Given the description of an element on the screen output the (x, y) to click on. 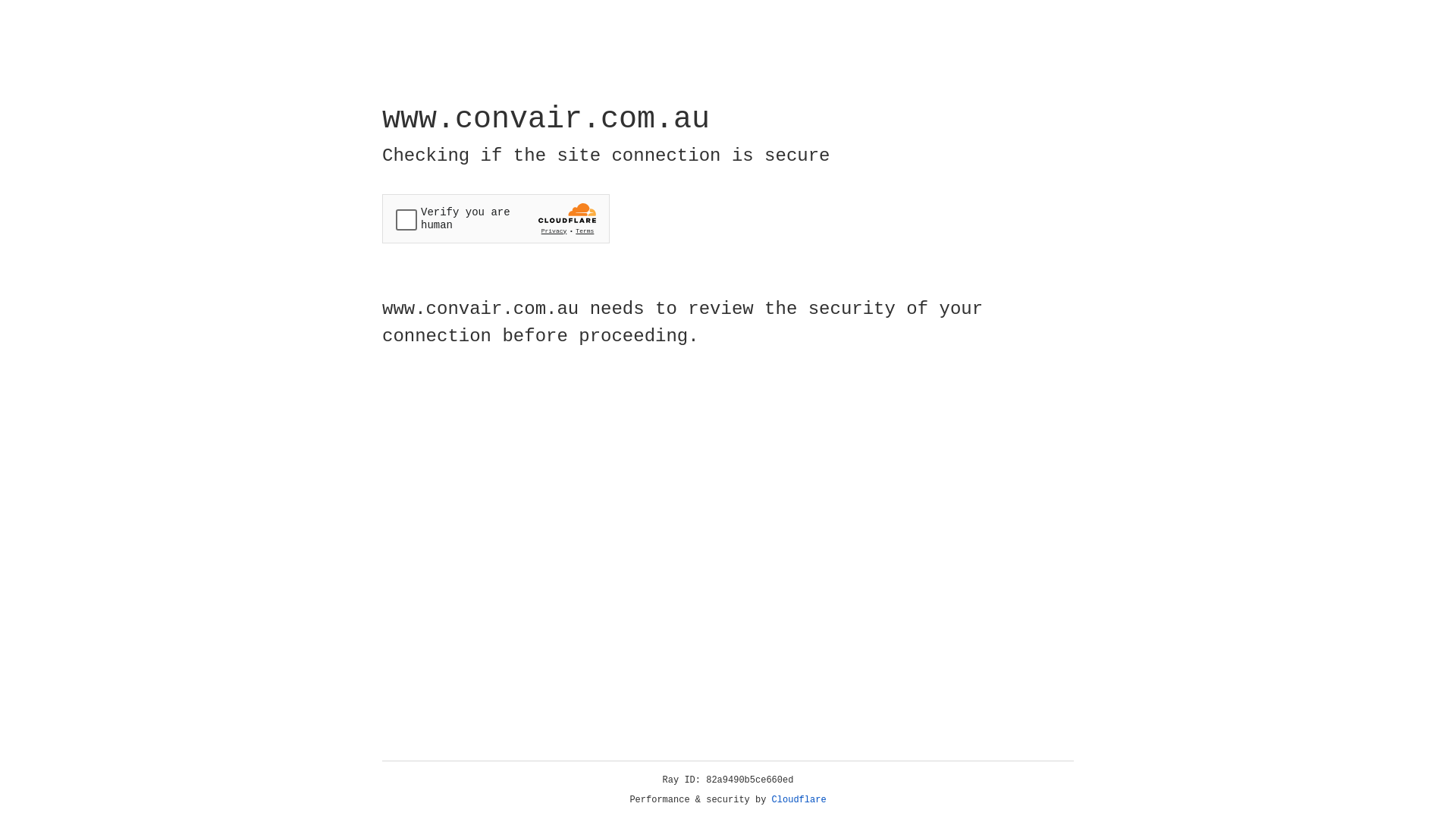
Widget containing a Cloudflare security challenge Element type: hover (495, 218)
Cloudflare Element type: text (798, 799)
